Given the description of an element on the screen output the (x, y) to click on. 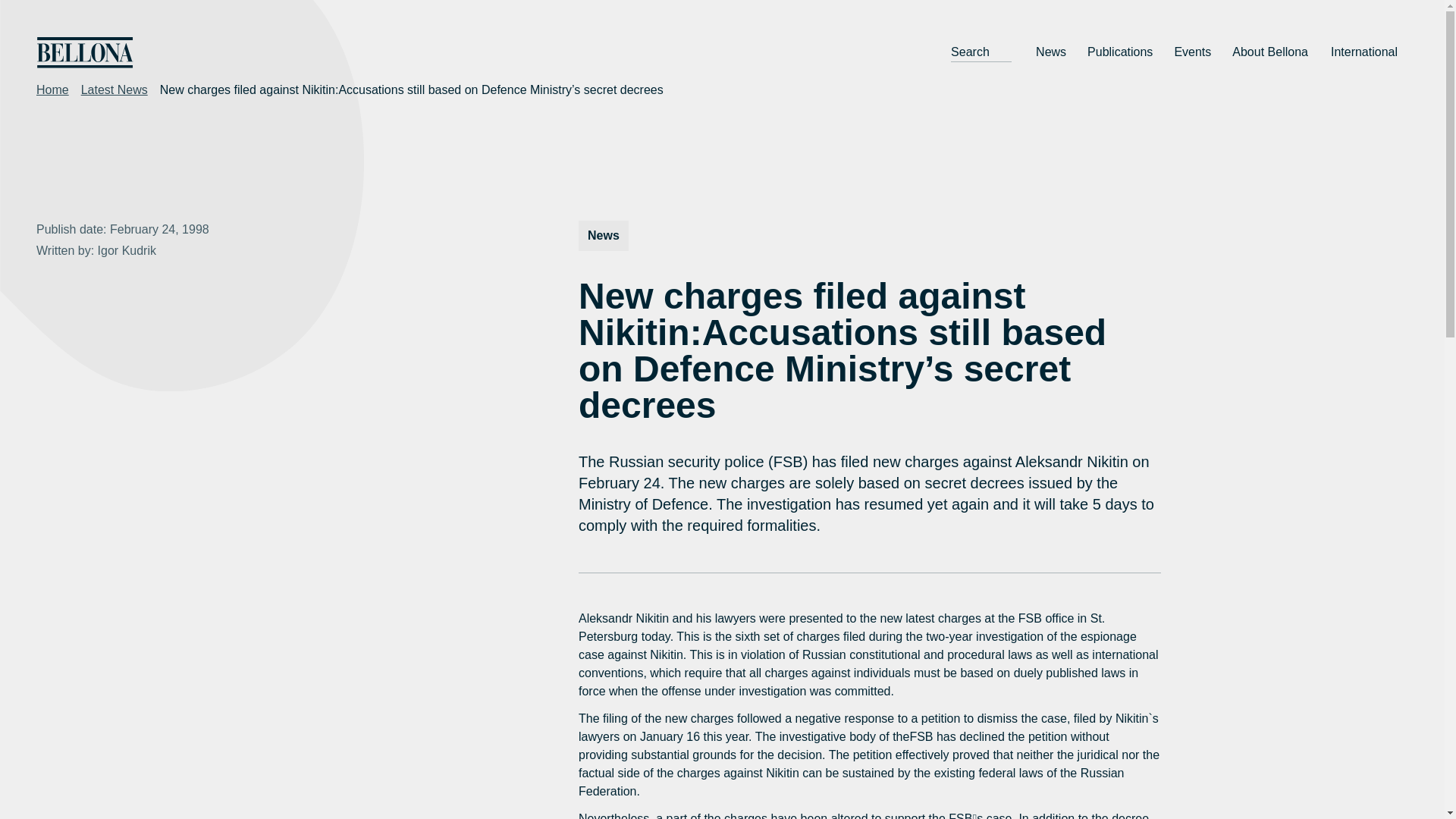
Latest News (114, 90)
Publications (1119, 51)
News (1050, 51)
International (1364, 51)
About Bellona (1271, 51)
Home (52, 90)
Events (1192, 51)
